Given the description of an element on the screen output the (x, y) to click on. 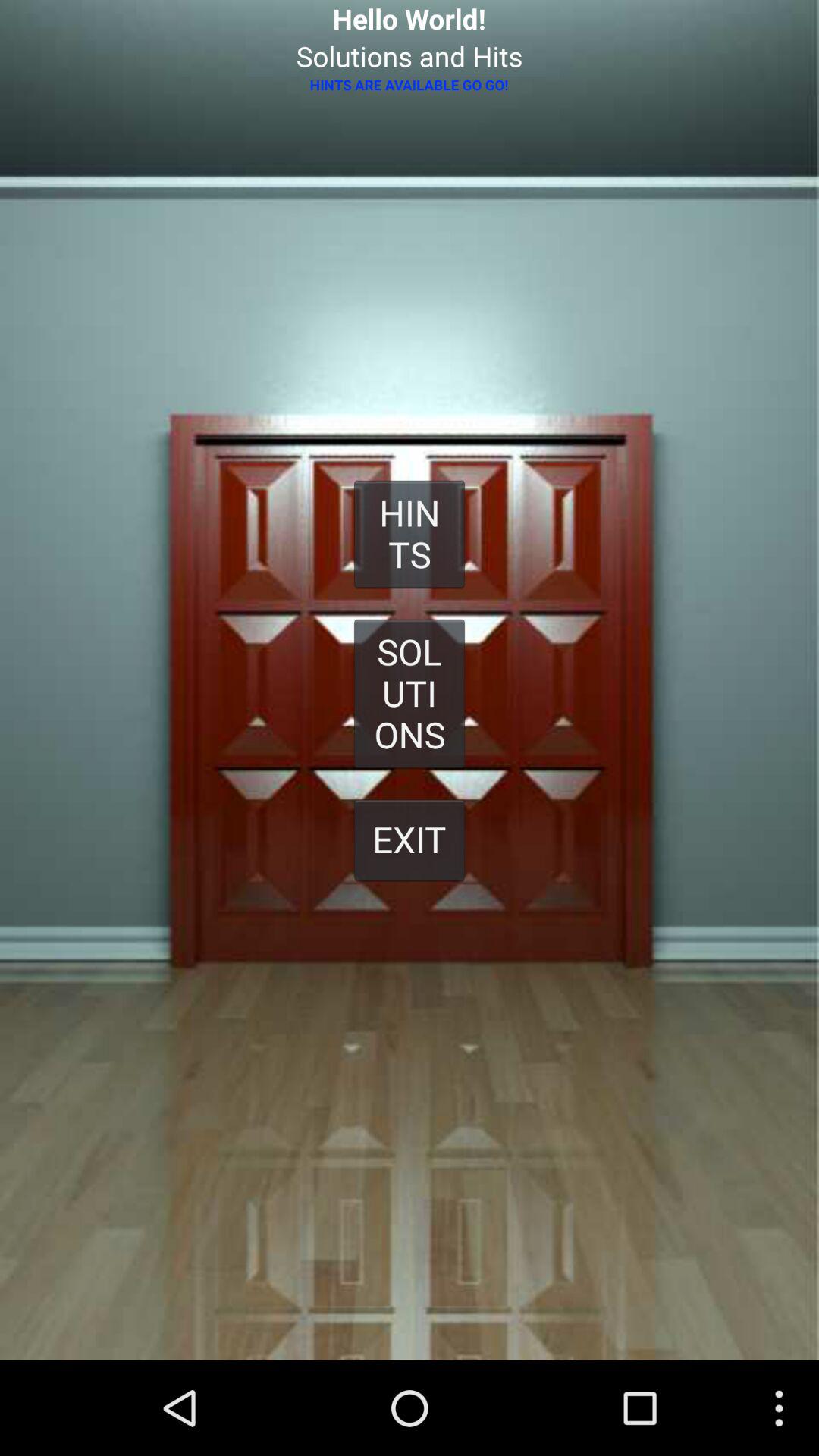
tap exit item (409, 839)
